Given the description of an element on the screen output the (x, y) to click on. 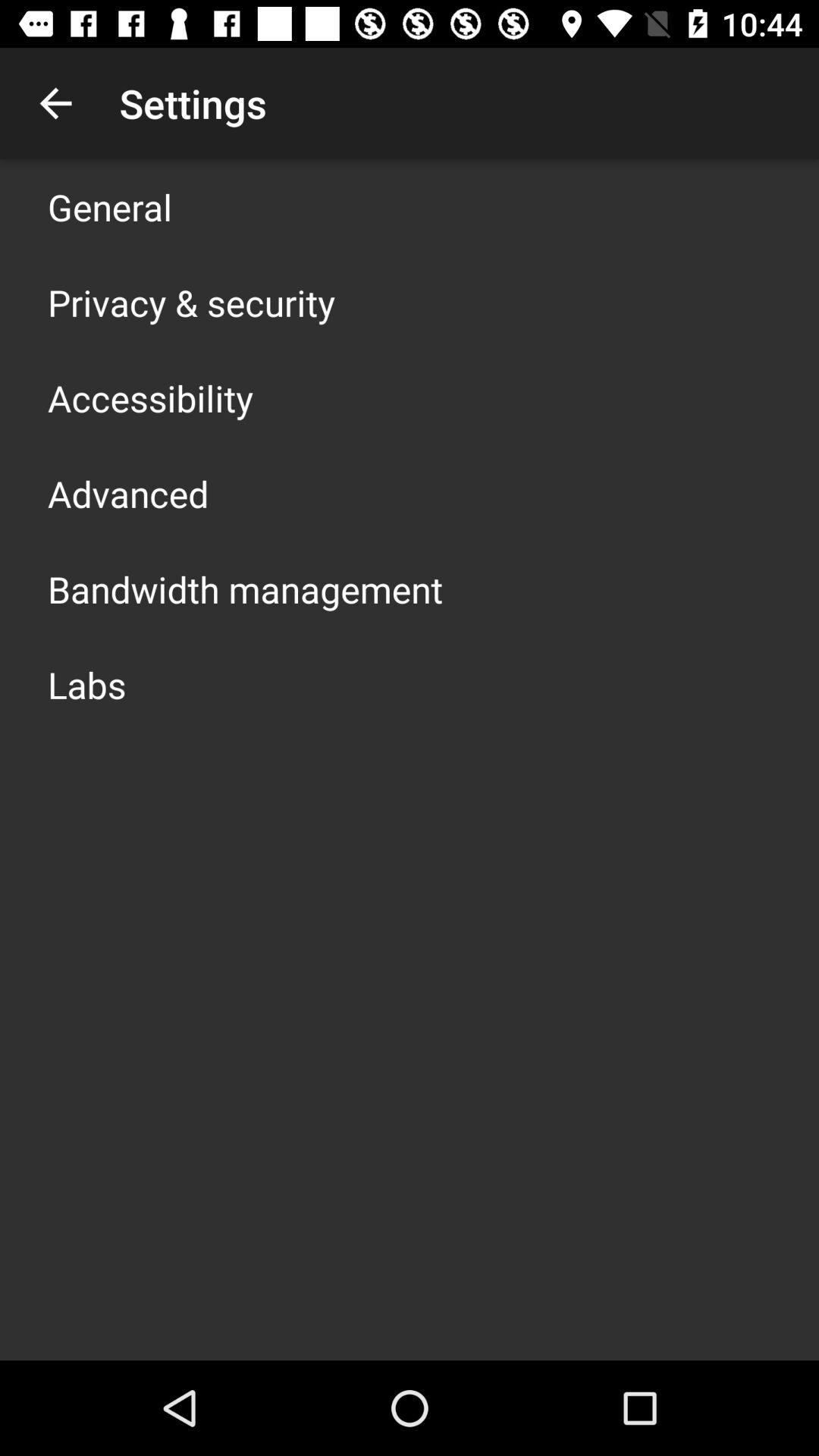
turn off the icon below bandwidth management item (86, 684)
